Given the description of an element on the screen output the (x, y) to click on. 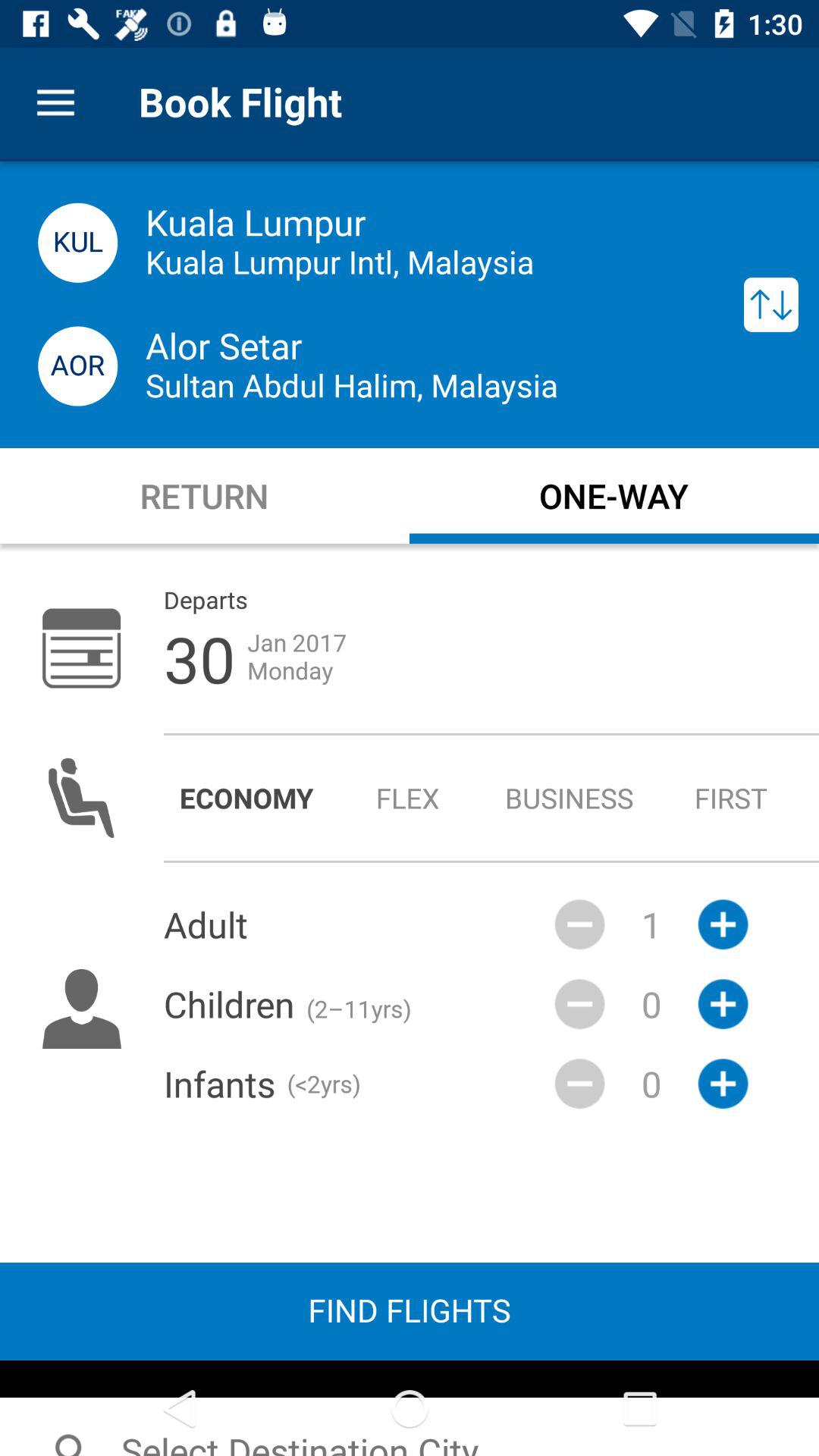
swipe until flex radio button (407, 797)
